Given the description of an element on the screen output the (x, y) to click on. 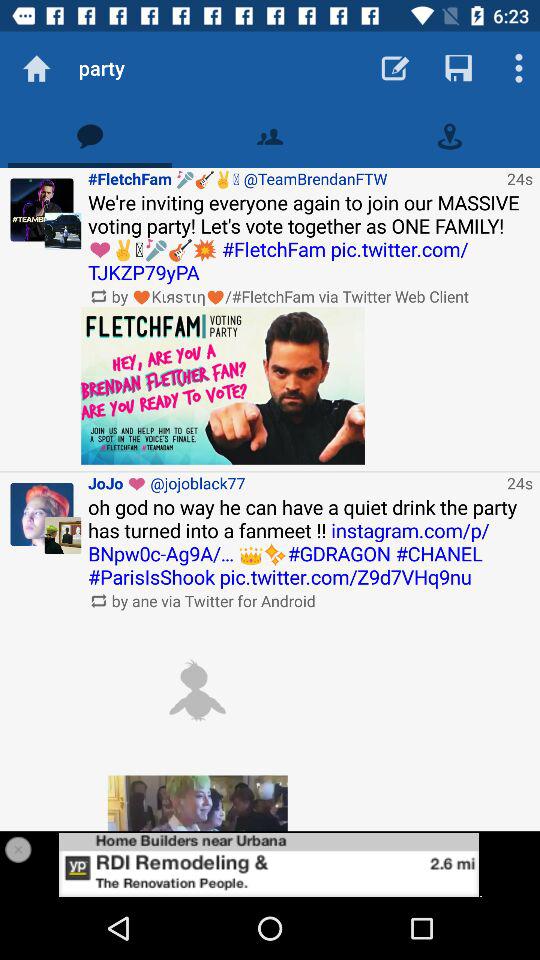
turn off the item next to the 24s (294, 482)
